Given the description of an element on the screen output the (x, y) to click on. 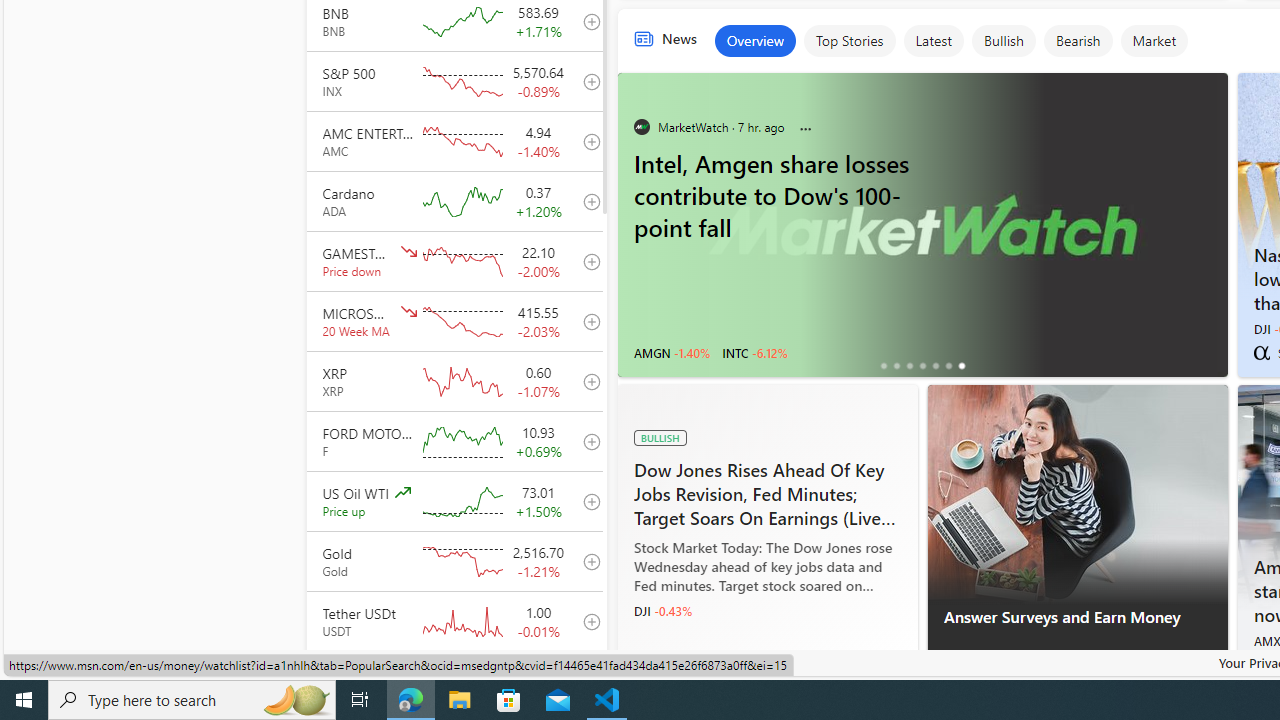
Seeking Alpha (1261, 352)
